Given the description of an element on the screen output the (x, y) to click on. 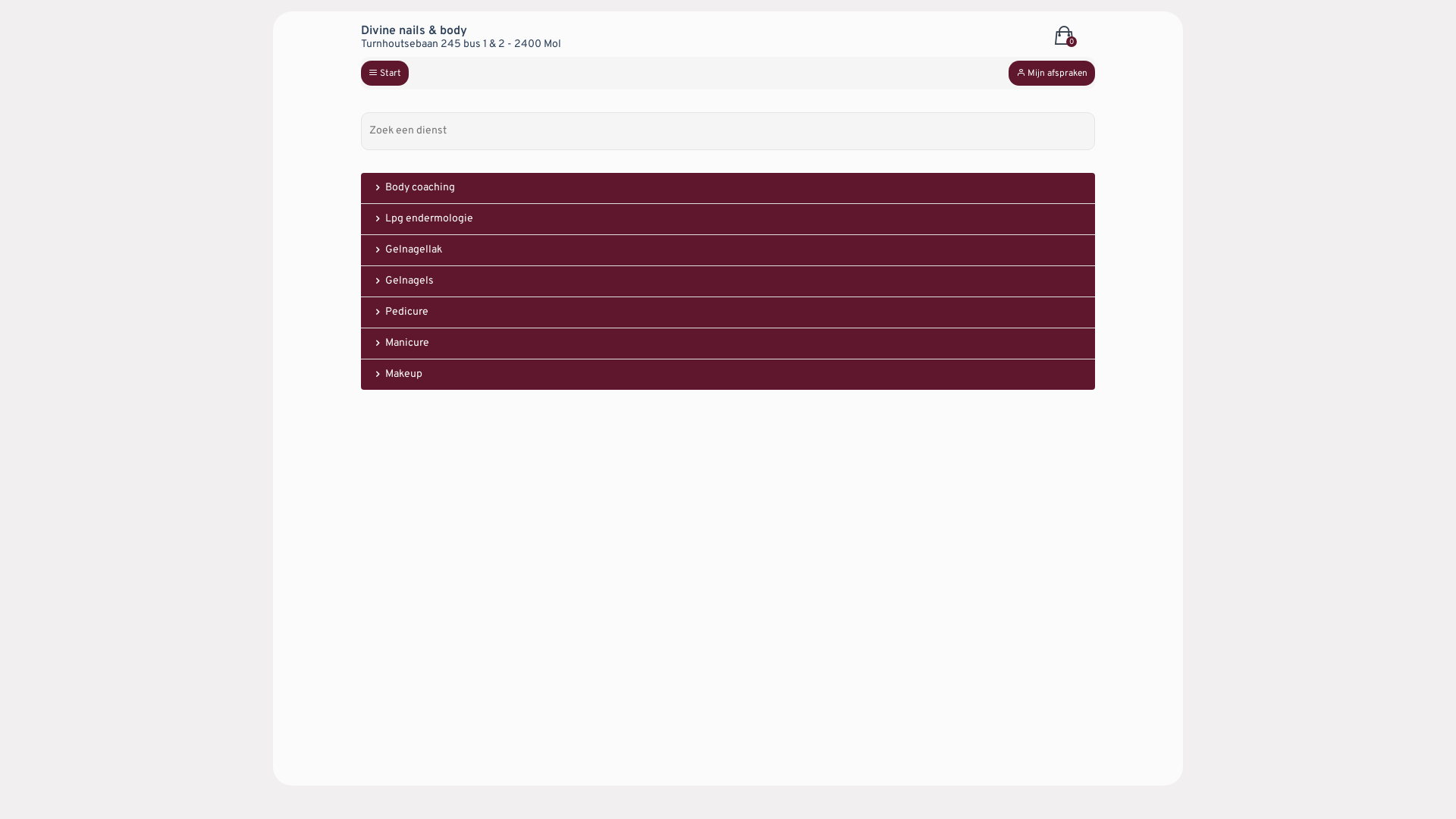
Divine nails & body
Turnhoutsebaan 245 bus 1 & 2 - 2400 Mol Element type: text (665, 37)
